Given the description of an element on the screen output the (x, y) to click on. 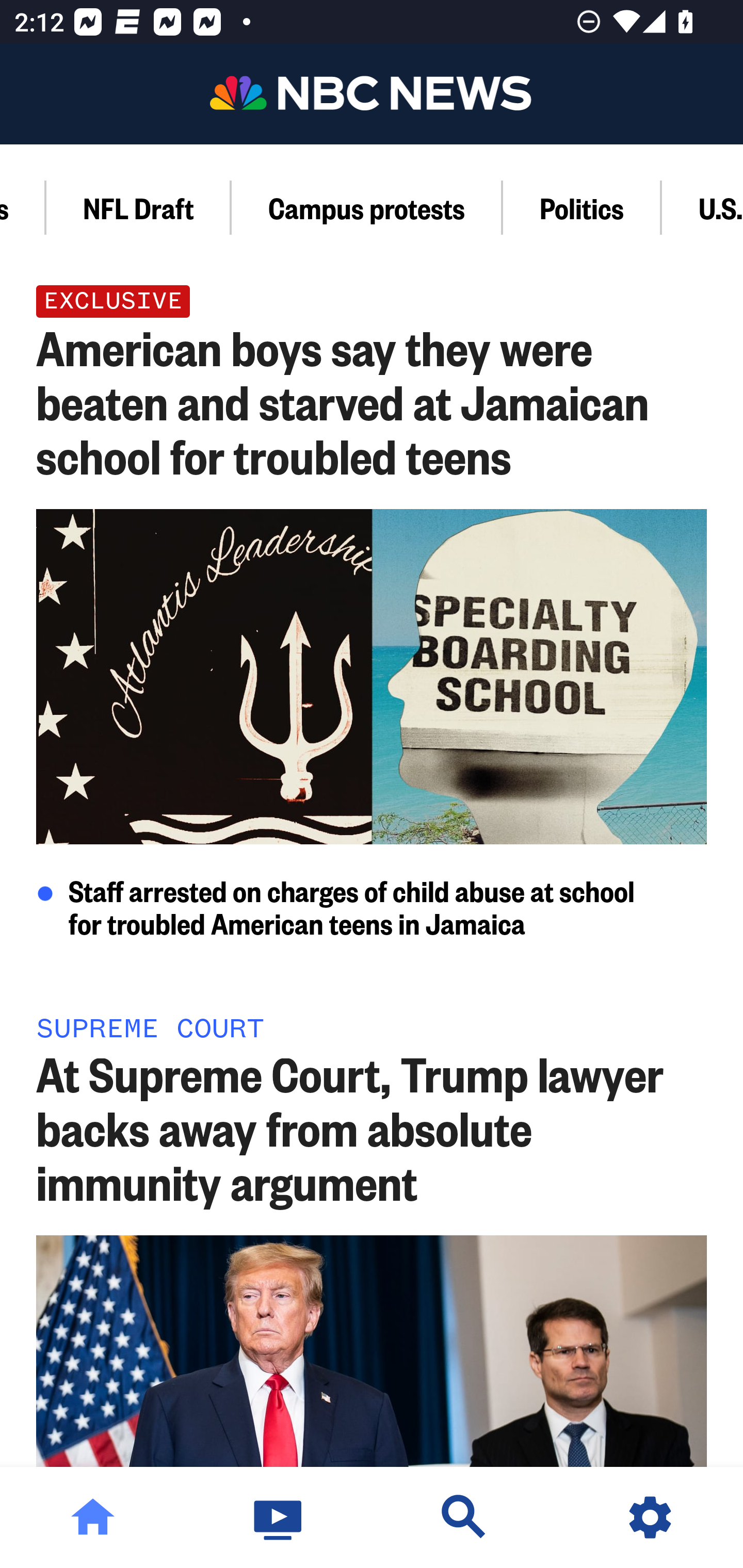
NFL Draft (138, 207)
Campus protests (367, 207)
Politics Section,Politics (582, 207)
Watch (278, 1517)
Discover (464, 1517)
Settings (650, 1517)
